Given the description of an element on the screen output the (x, y) to click on. 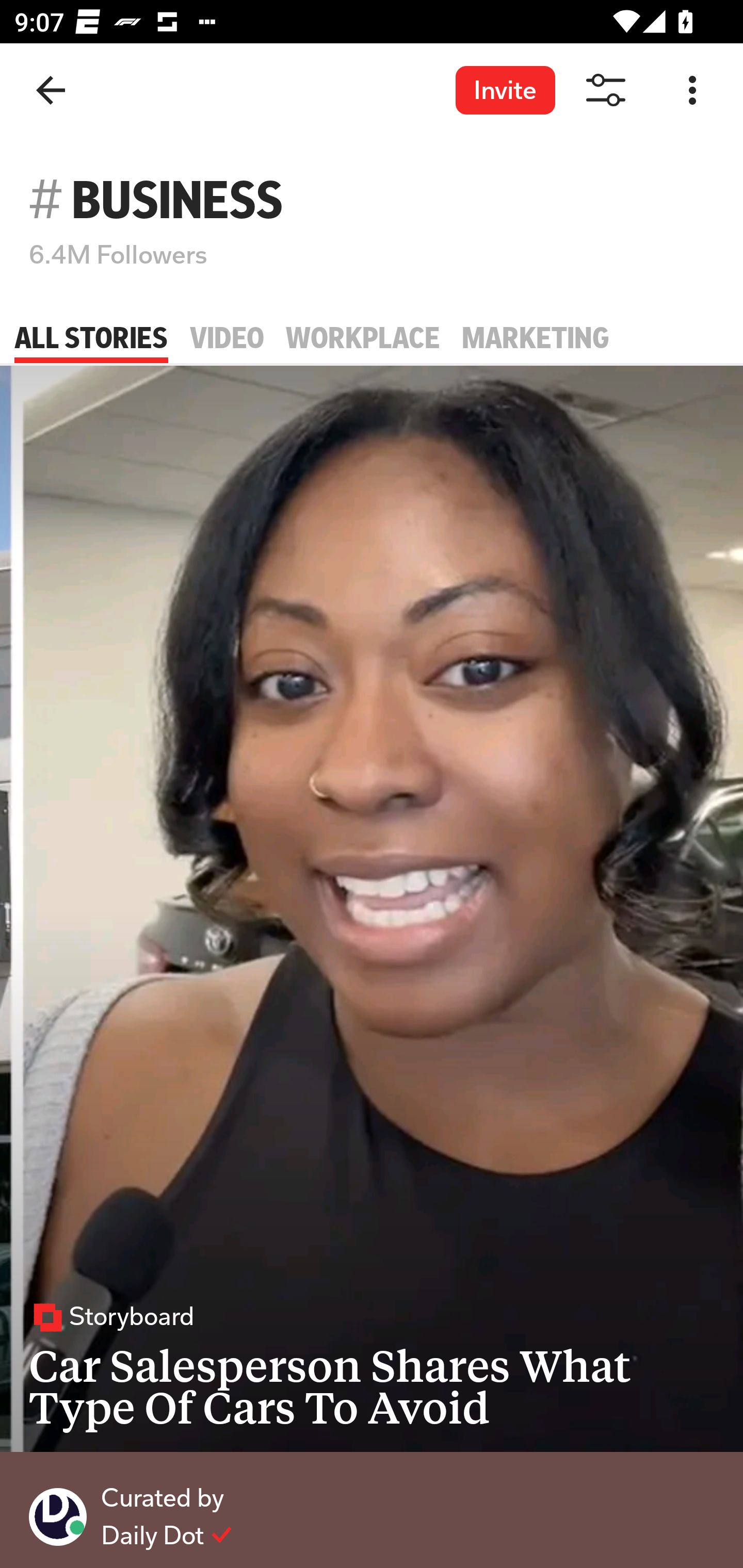
Back (50, 90)
Options (692, 90)
Invite (505, 89)
ALL STORIES (90, 337)
VIDEO (227, 337)
WORKPLACE (362, 337)
MARKETING (535, 337)
Curated by Daily Dot (371, 1516)
